Given the description of an element on the screen output the (x, y) to click on. 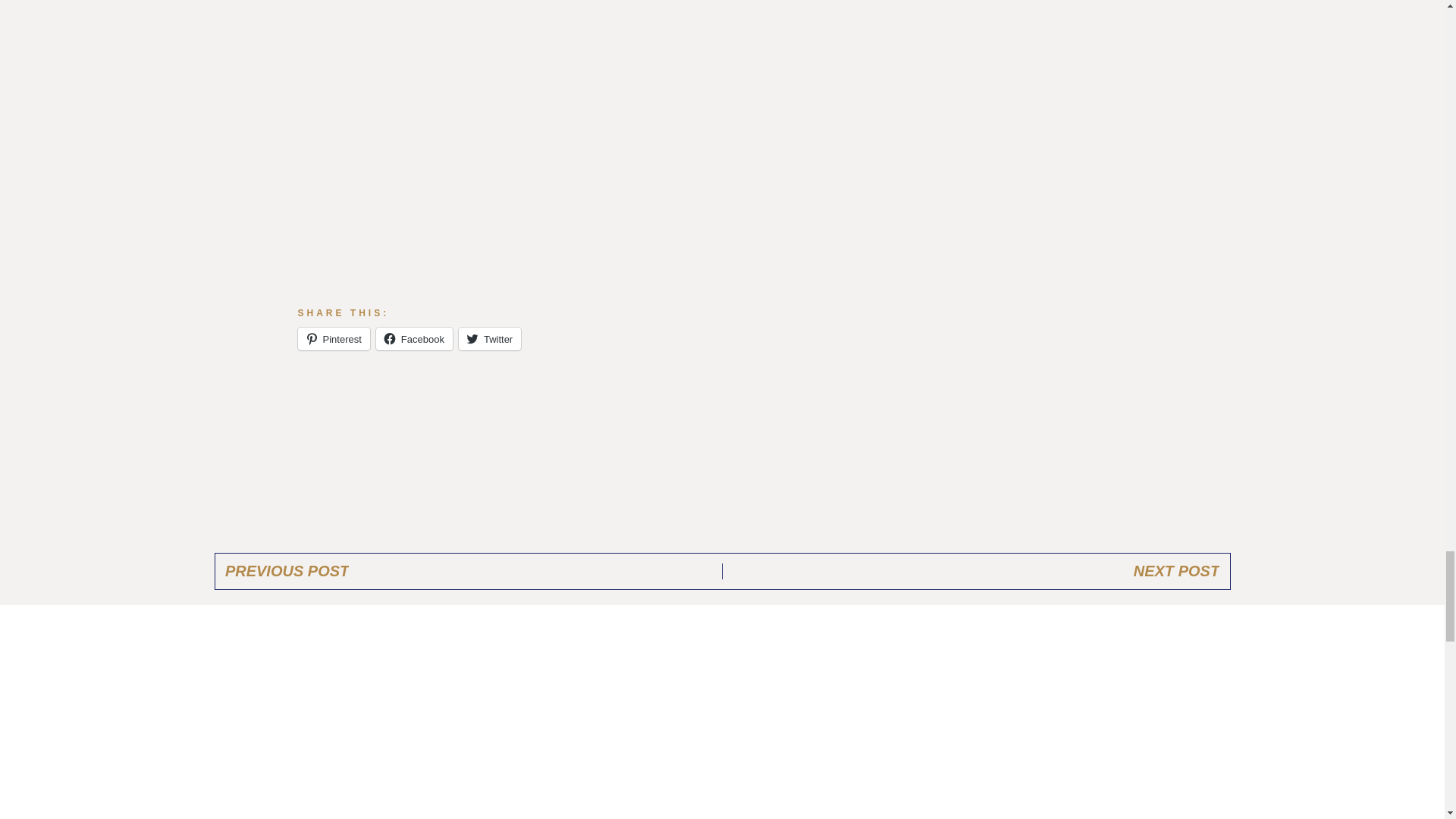
Click to share on Pinterest (333, 338)
Click to share on Twitter (489, 338)
Facebook (413, 338)
Twitter (489, 338)
Click to share on Facebook (413, 338)
Pinterest (333, 338)
